Given the description of an element on the screen output the (x, y) to click on. 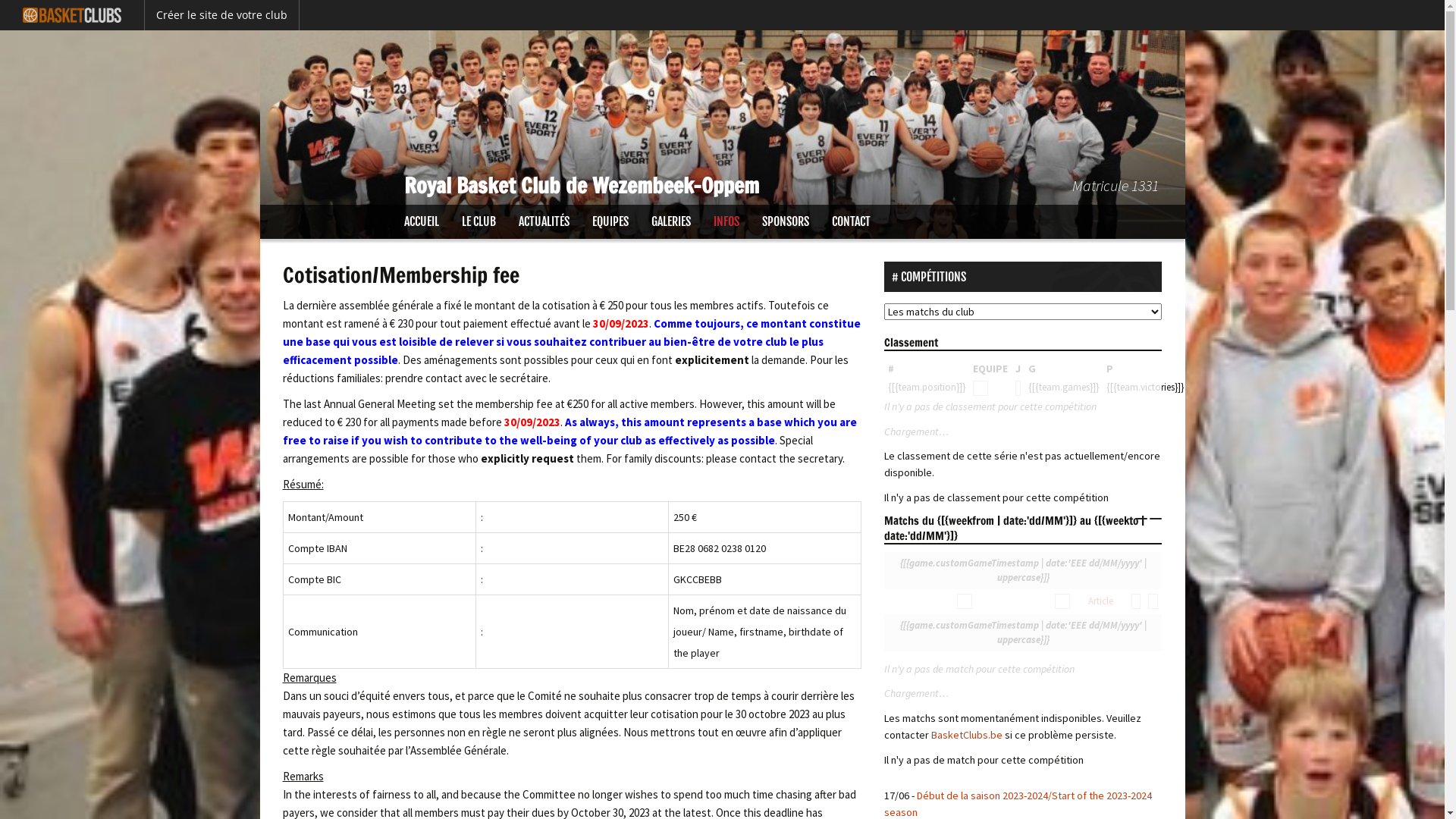
CONTACT Element type: text (850, 221)
ACCUEIL Element type: text (421, 221)
INFOS Element type: text (726, 221)
Article Element type: text (1100, 600)
SPONSORS Element type: text (785, 221)
Royal Basket Club de Wezembeek-Oppem
Matricule 1331 Element type: text (721, 117)
Passer au contenu Element type: text (303, 213)
GALERIES Element type: text (671, 221)
EQUIPES Element type: text (610, 221)
BasketClubs.be Element type: text (967, 734)
LE CLUB Element type: text (478, 221)
